Given the description of an element on the screen output the (x, y) to click on. 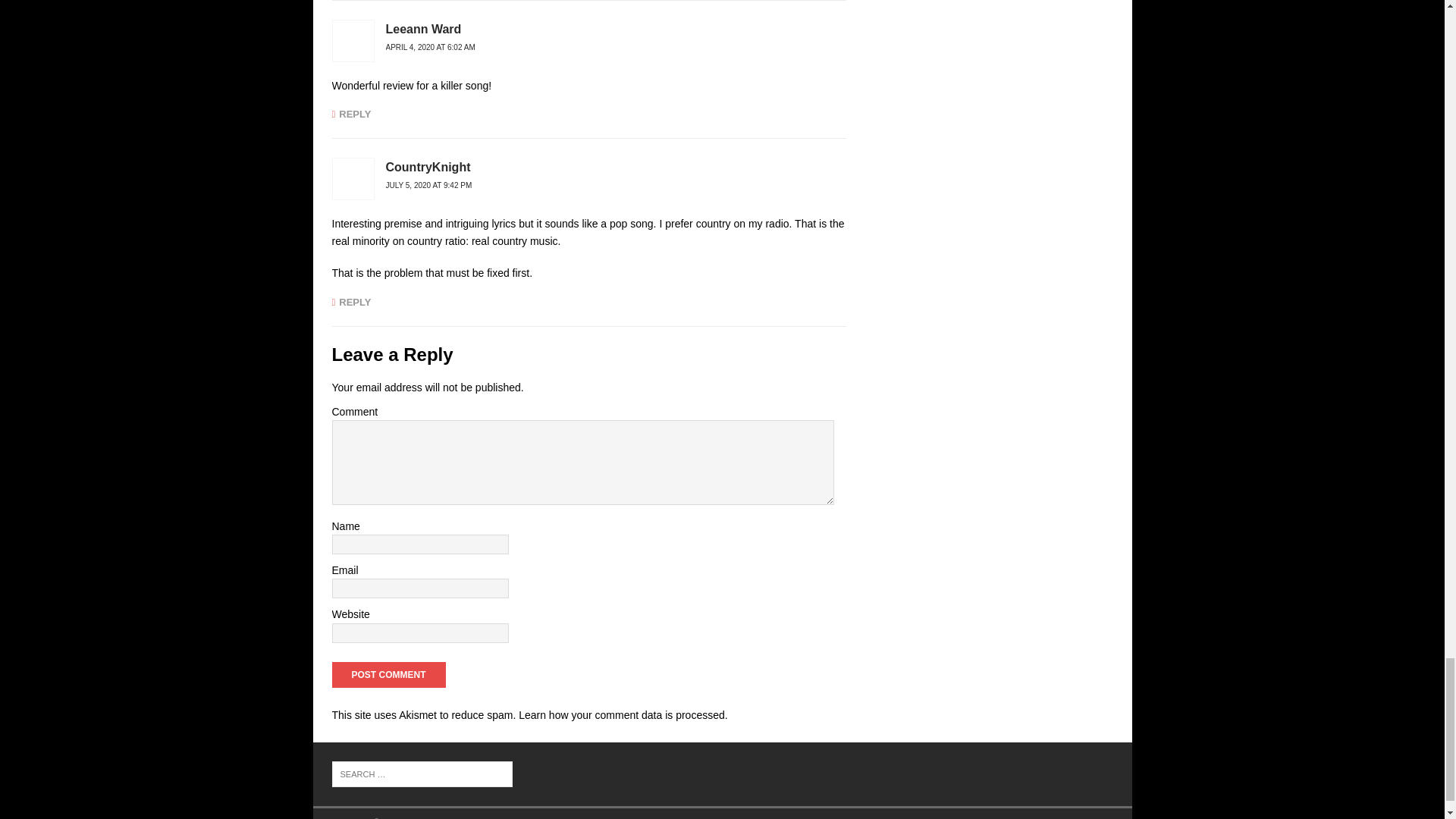
Post Comment (388, 674)
